Given the description of an element on the screen output the (x, y) to click on. 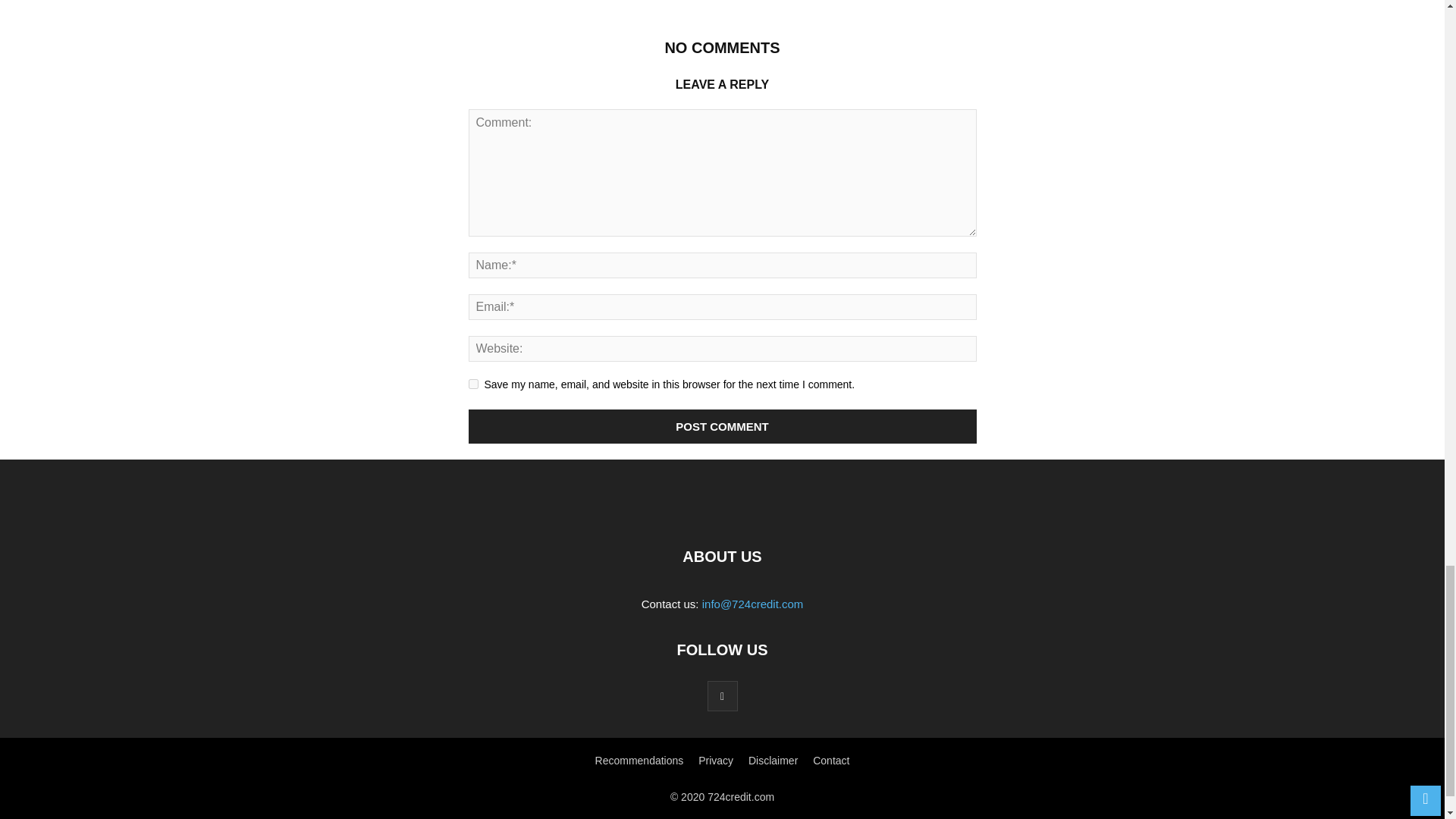
Post Comment (722, 426)
yes (473, 384)
